Given the description of an element on the screen output the (x, y) to click on. 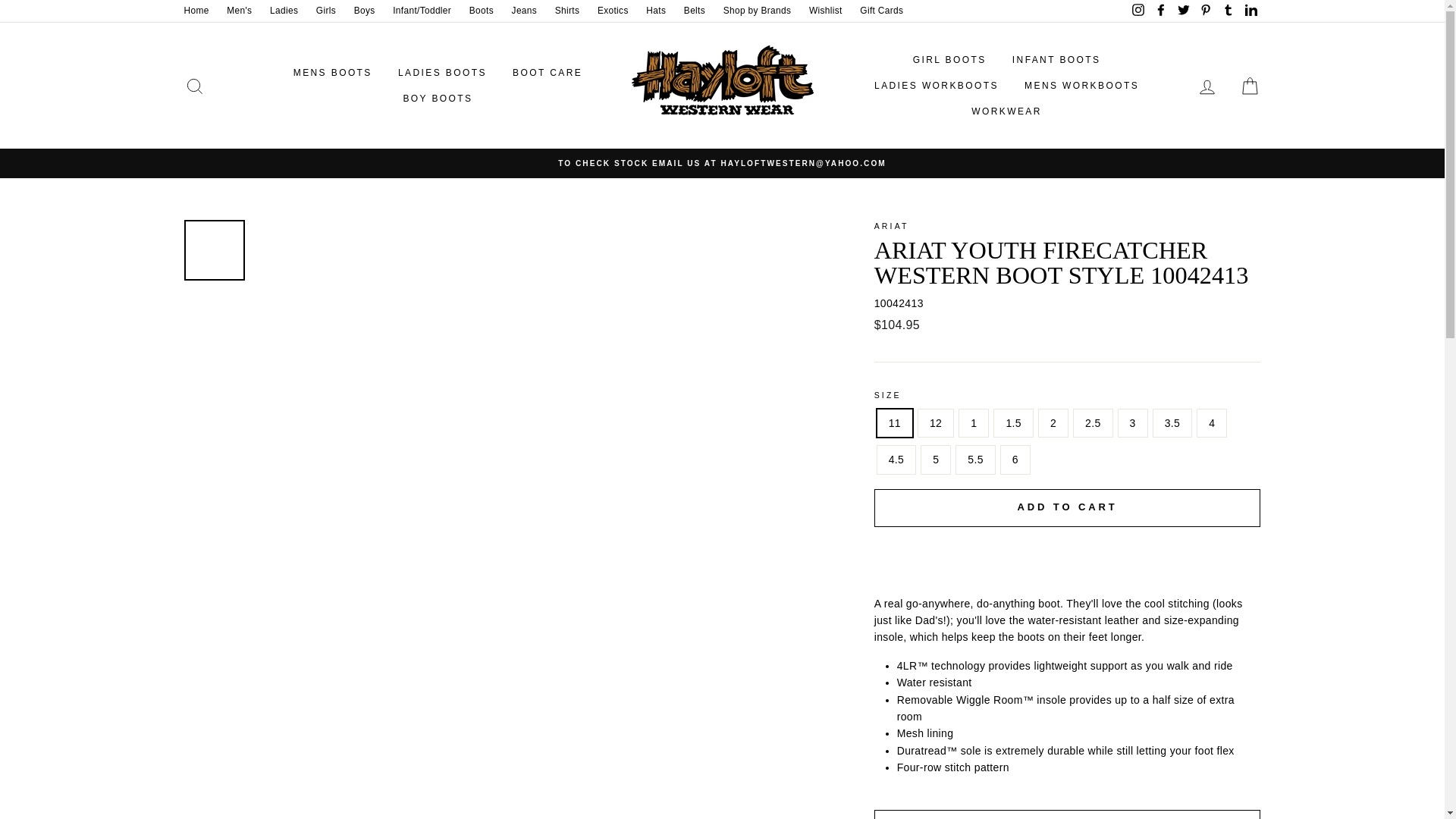
HAYLOFT WESTERN WEAR on Pinterest (1205, 11)
HAYLOFT WESTERN WEAR on LinkedIn (1250, 11)
HAYLOFT WESTERN WEAR on Instagram (1138, 11)
